Given the description of an element on the screen output the (x, y) to click on. 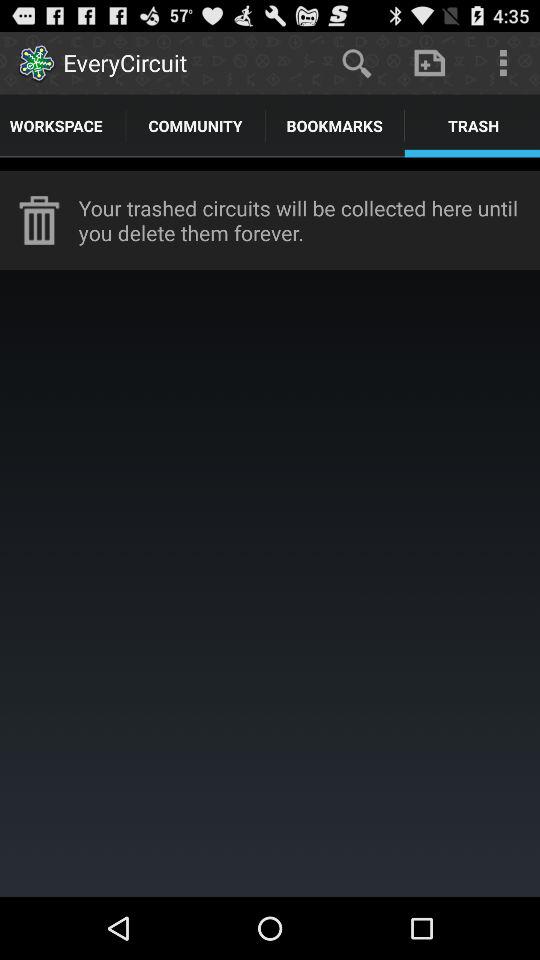
click icon next to the your trashed circuits item (39, 220)
